Given the description of an element on the screen output the (x, y) to click on. 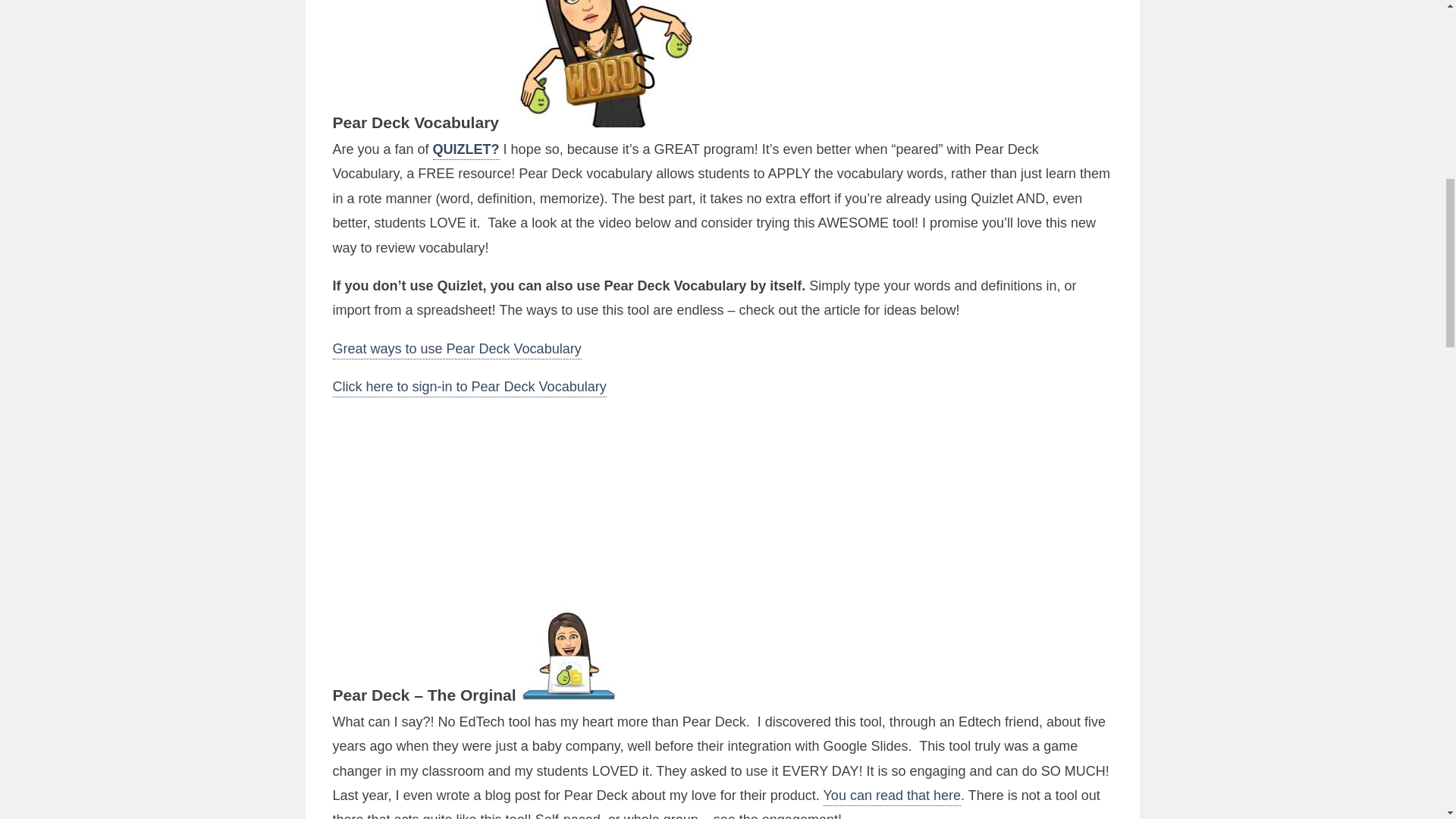
Click here to sign-in to Pear Deck Vocabulary (468, 388)
Great ways to use Pear Deck Vocabulary (455, 350)
You can read that here (892, 796)
QUIZLET? (465, 150)
